Given the description of an element on the screen output the (x, y) to click on. 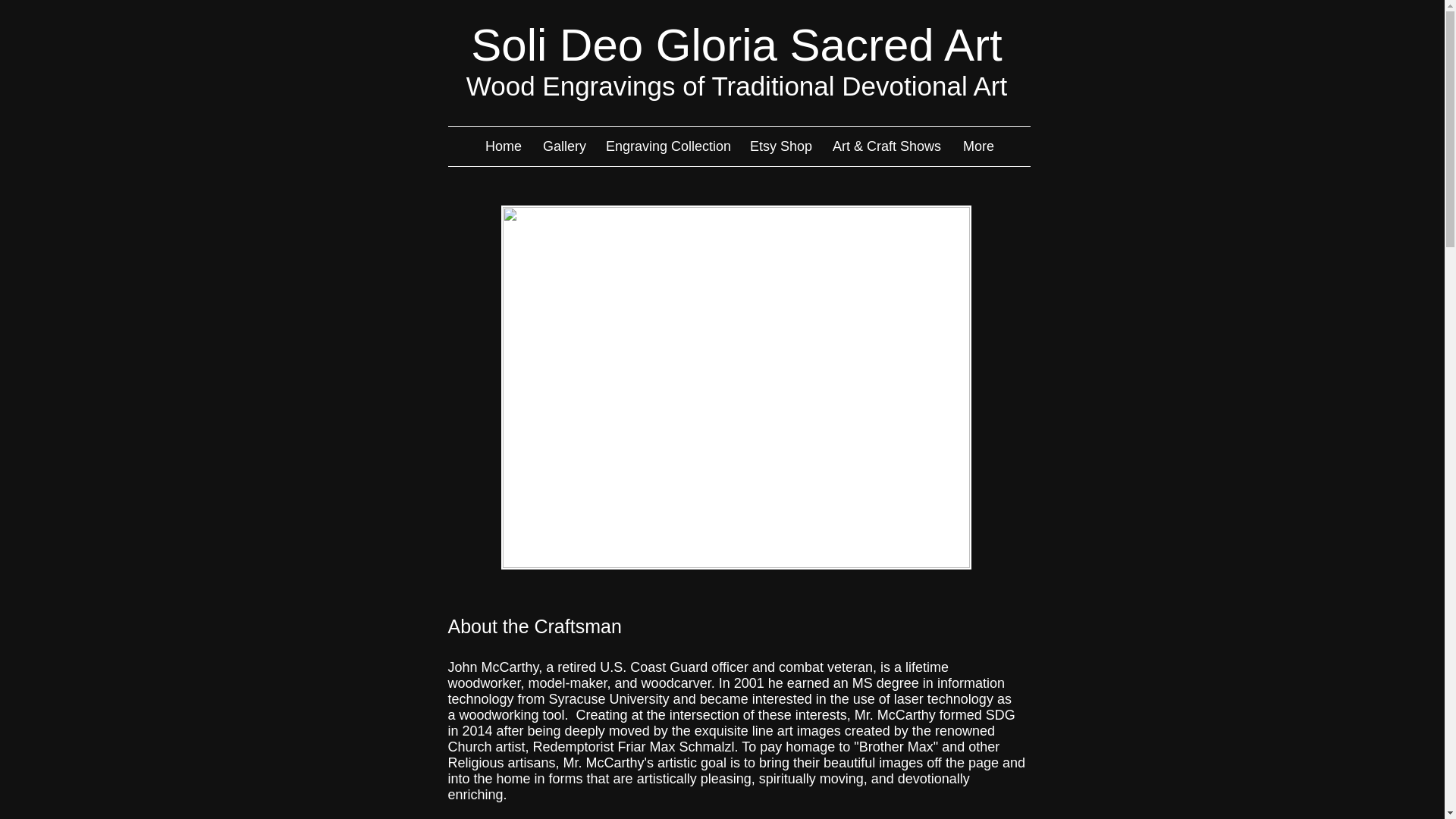
Home (502, 146)
Etsy Shop (779, 146)
Gallery (562, 146)
Engraving Collection (666, 146)
